Given the description of an element on the screen output the (x, y) to click on. 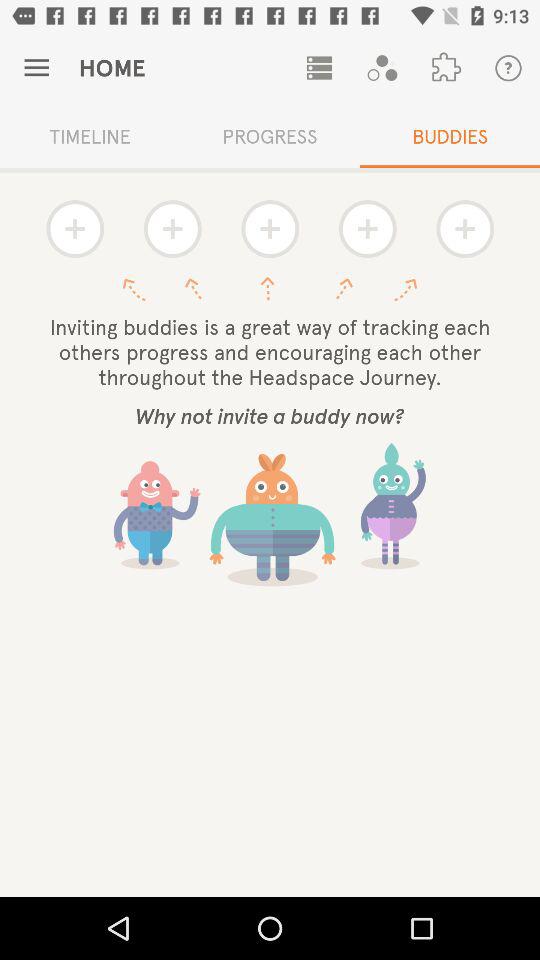
click on the  icon below buddies (464, 228)
